Given the description of an element on the screen output the (x, y) to click on. 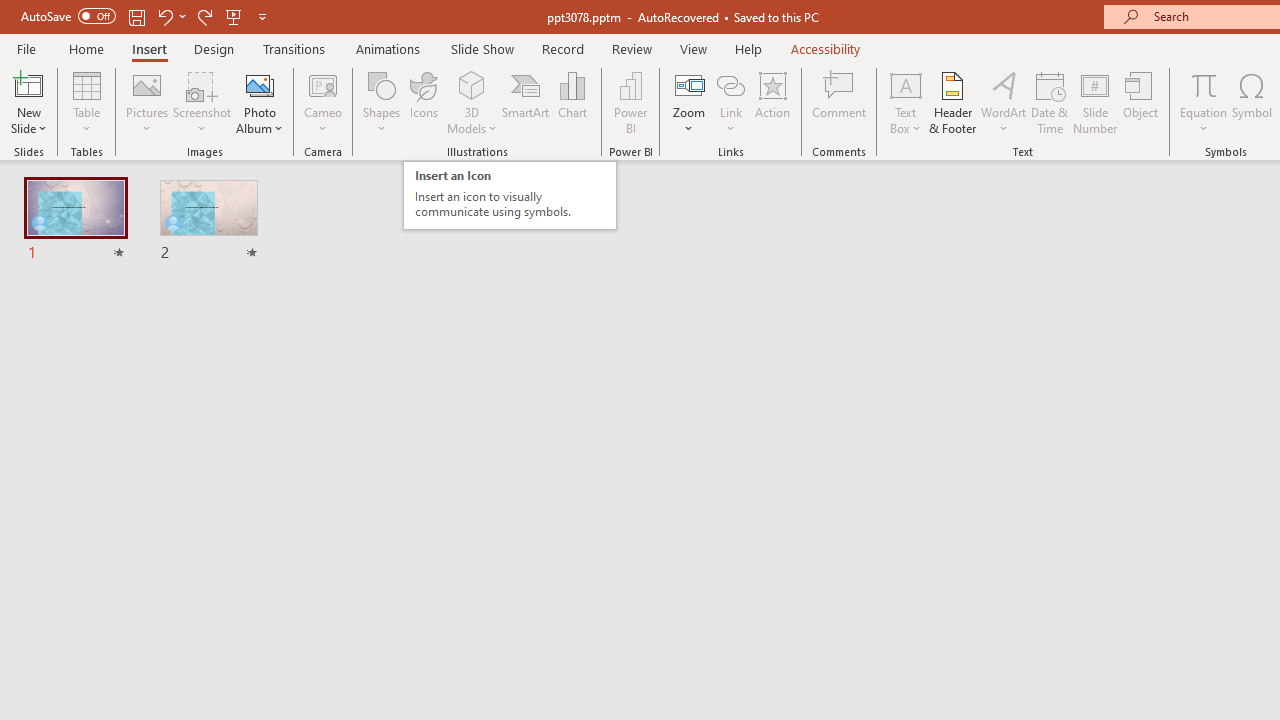
New Photo Album... (259, 84)
SmartArt... (525, 102)
Power BI (630, 102)
Link (731, 84)
Action (772, 102)
Header & Footer... (952, 102)
Chart... (572, 102)
Equation (1203, 102)
